Given the description of an element on the screen output the (x, y) to click on. 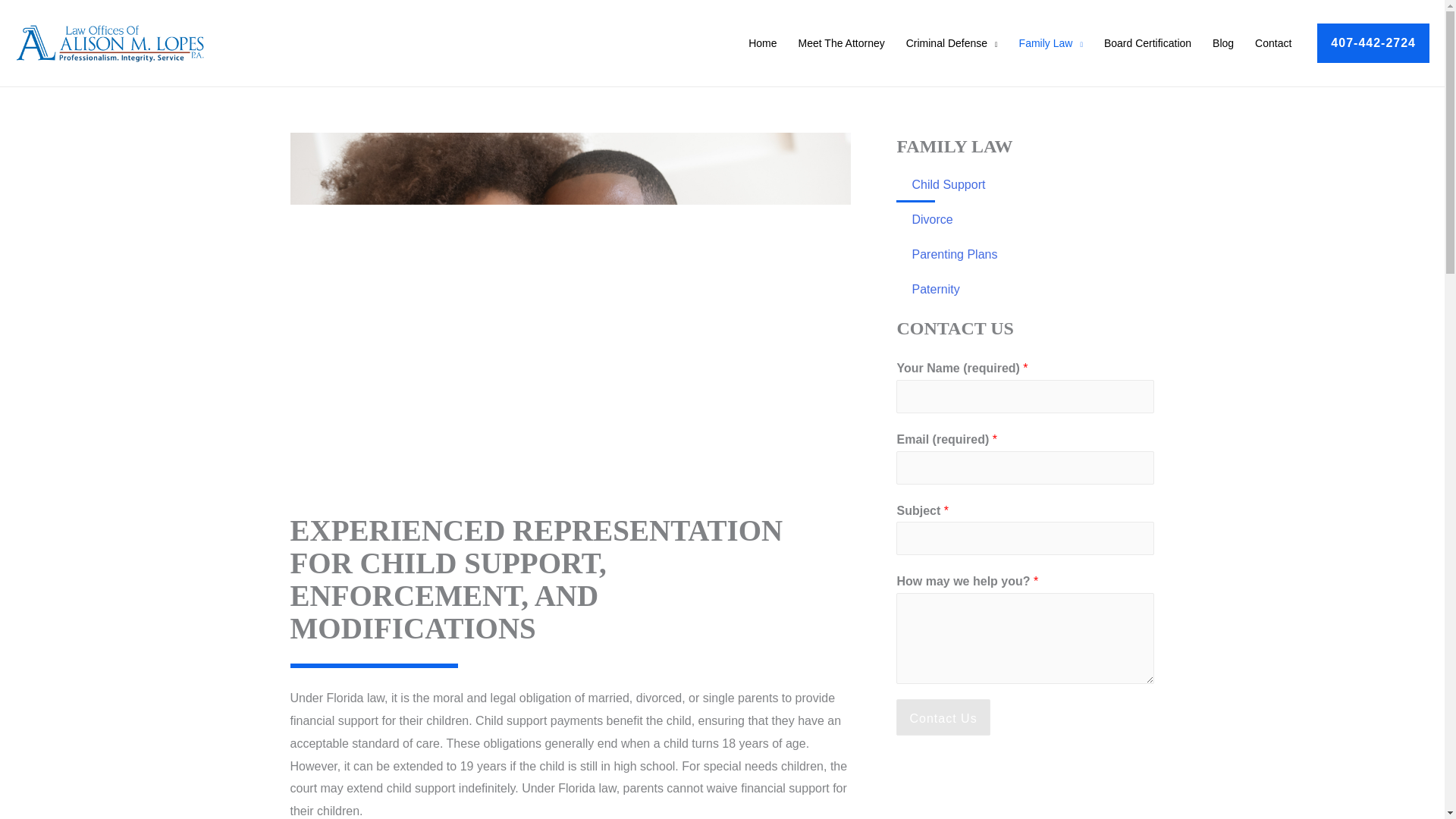
407-442-2724 (1373, 43)
Criminal Defense (952, 42)
Board Certification (1147, 42)
Meet The Attorney (841, 42)
Home (762, 42)
Contact (1272, 42)
Family Law (1051, 42)
